Given the description of an element on the screen output the (x, y) to click on. 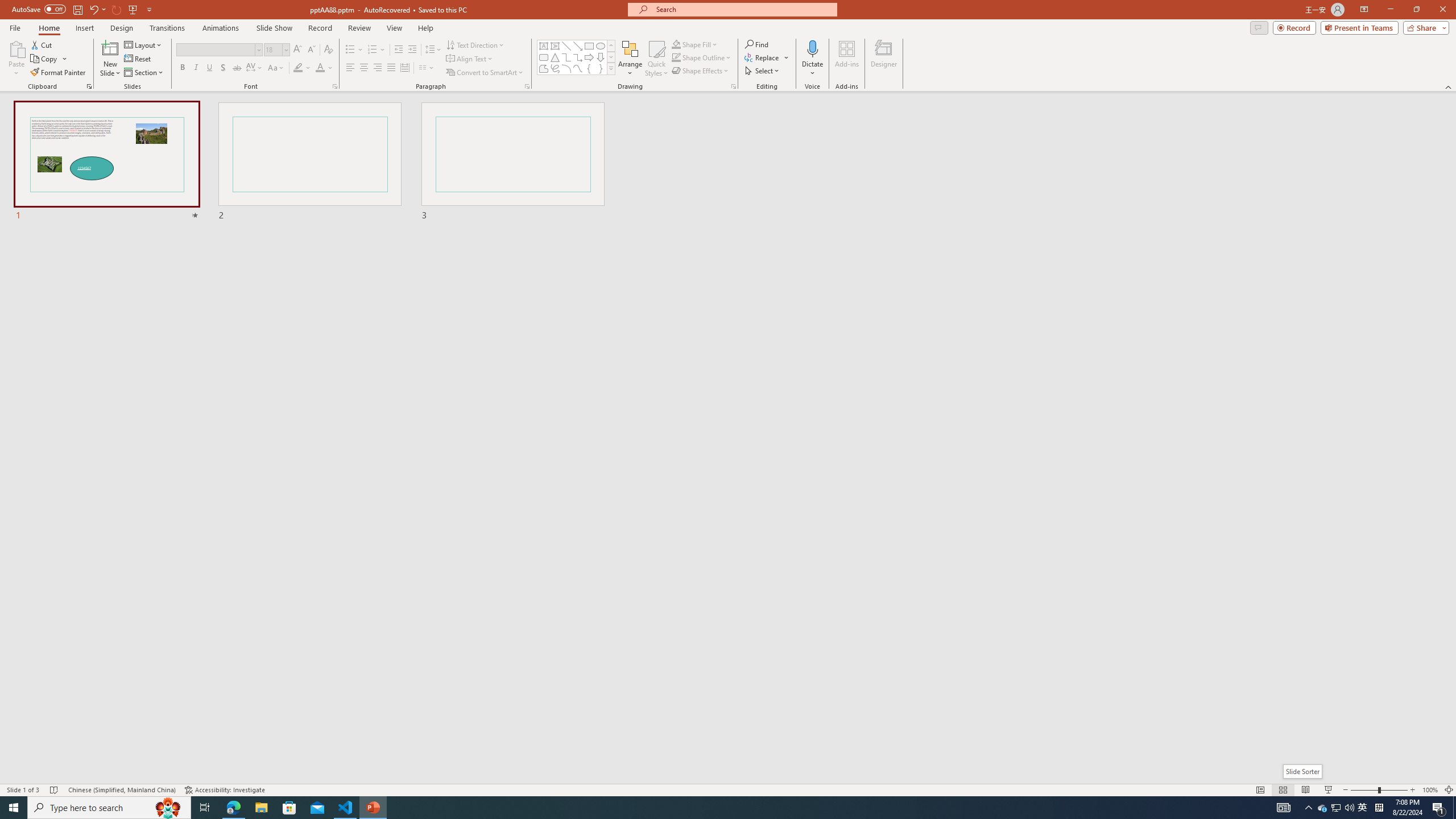
Character Spacing (254, 67)
Quick Access Toolbar (82, 9)
Class: NetUIImage (610, 68)
Paste (16, 58)
AutomationID: ShapesInsertGallery (576, 57)
Arc (566, 68)
Find... (756, 44)
Left Brace (589, 68)
Paste (16, 48)
Home (48, 28)
Shadow (223, 67)
Reading View (1305, 790)
Curve (577, 68)
